Given the description of an element on the screen output the (x, y) to click on. 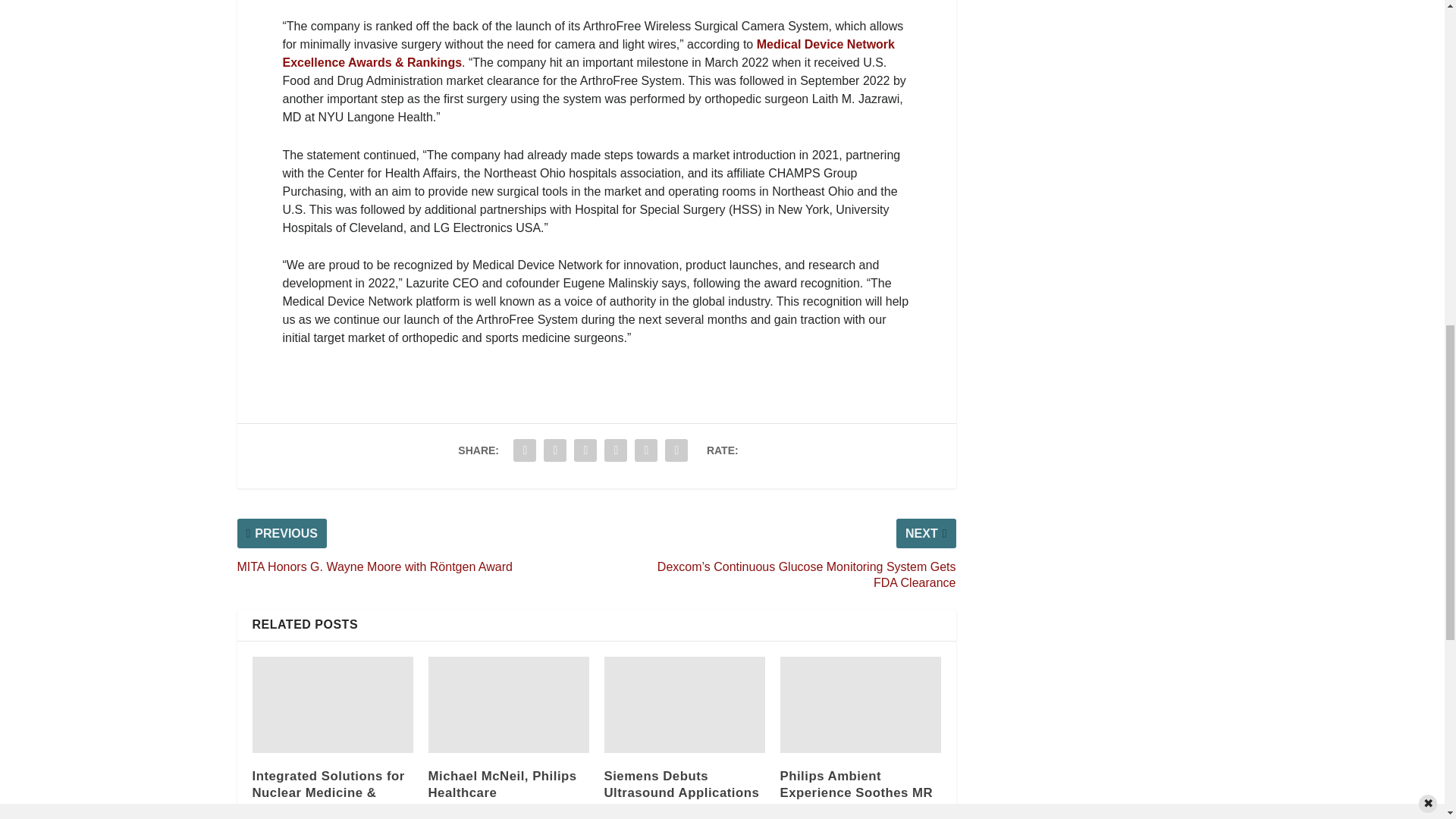
Philips Ambient Experience Soothes MR Patients (859, 704)
Michael McNeil, Philips Healthcare (508, 704)
